Given the description of an element on the screen output the (x, y) to click on. 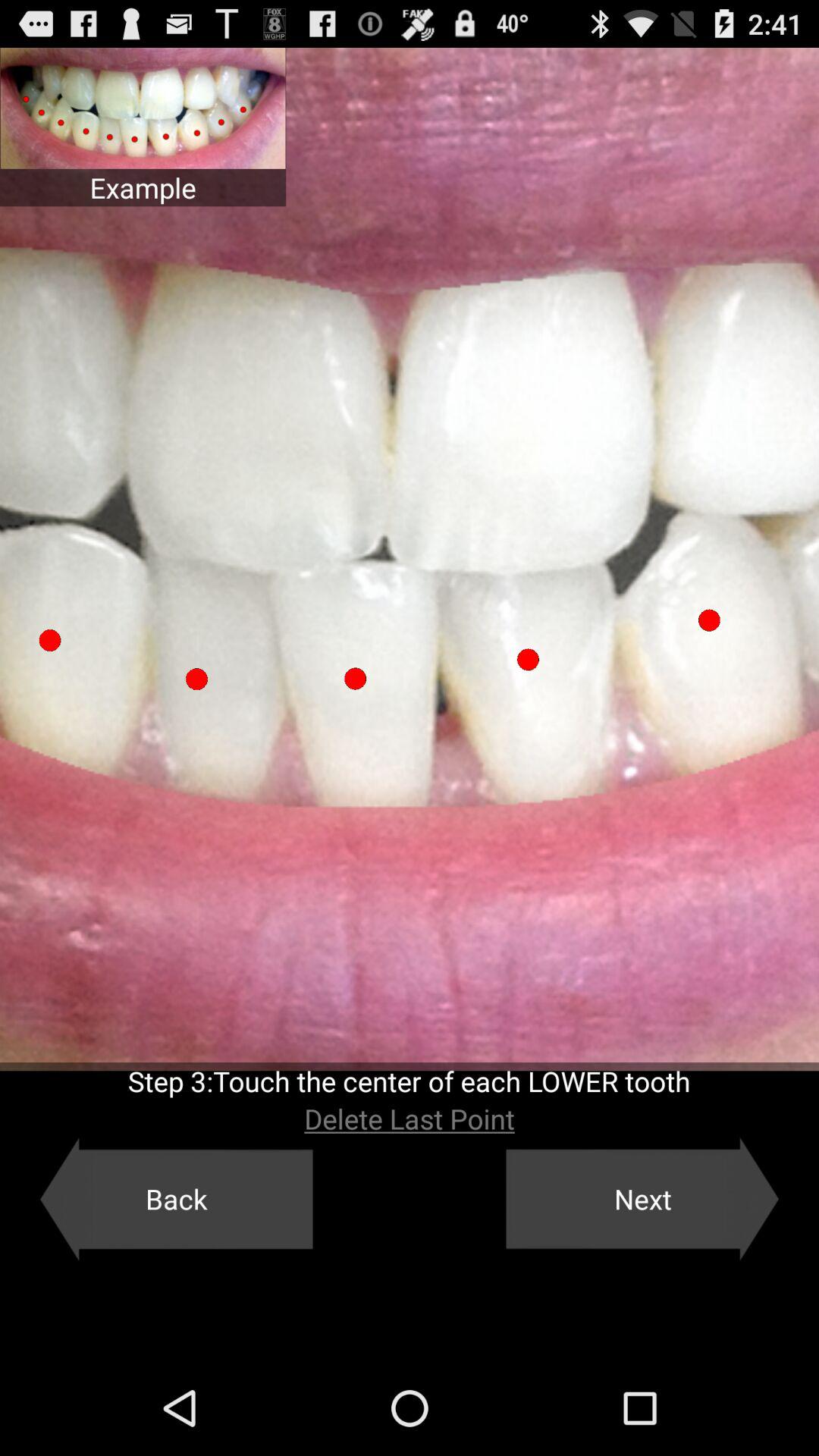
choose item at the bottom right corner (642, 1198)
